Given the description of an element on the screen output the (x, y) to click on. 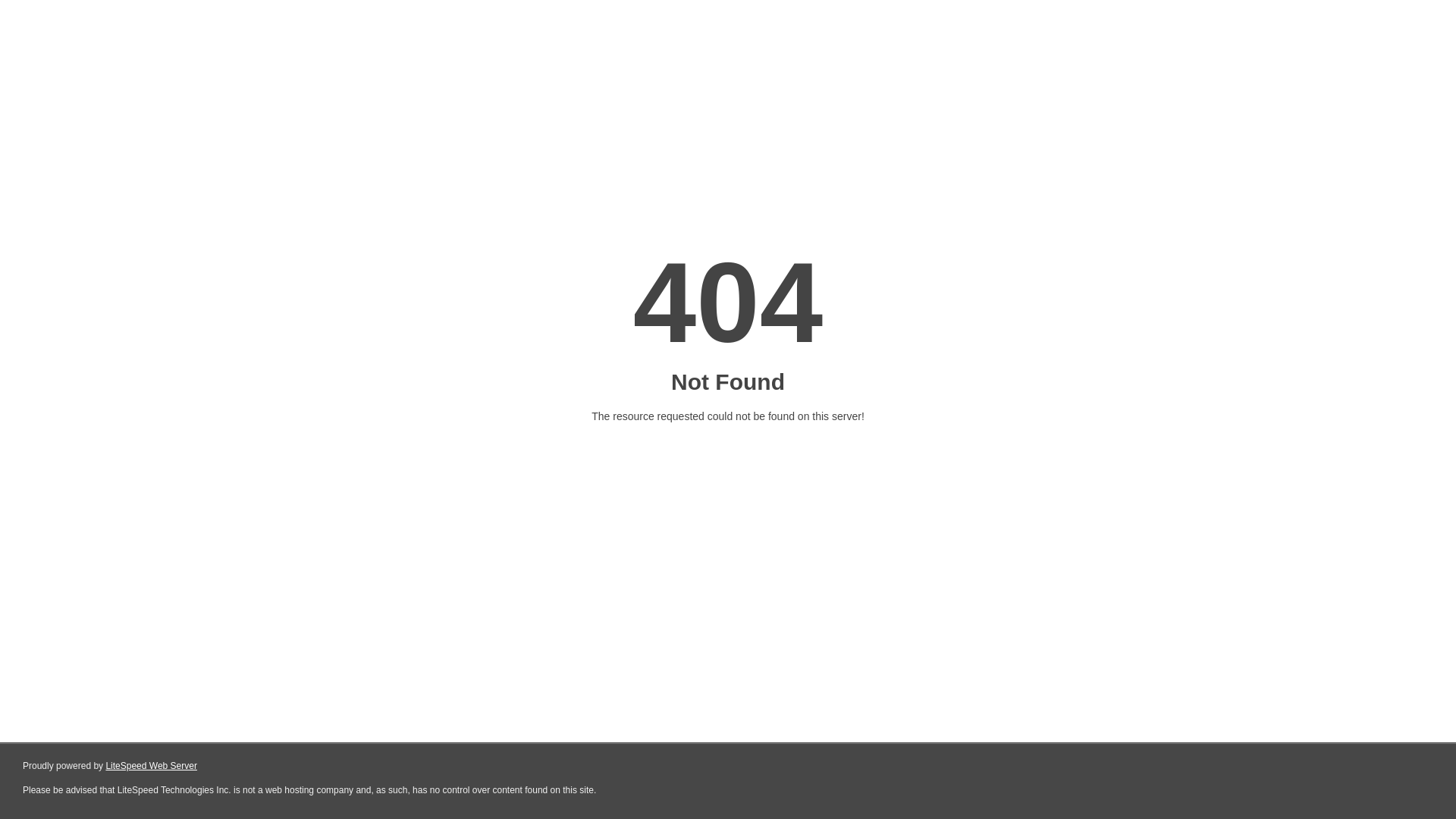
LiteSpeed Web Server Element type: text (151, 765)
